Given the description of an element on the screen output the (x, y) to click on. 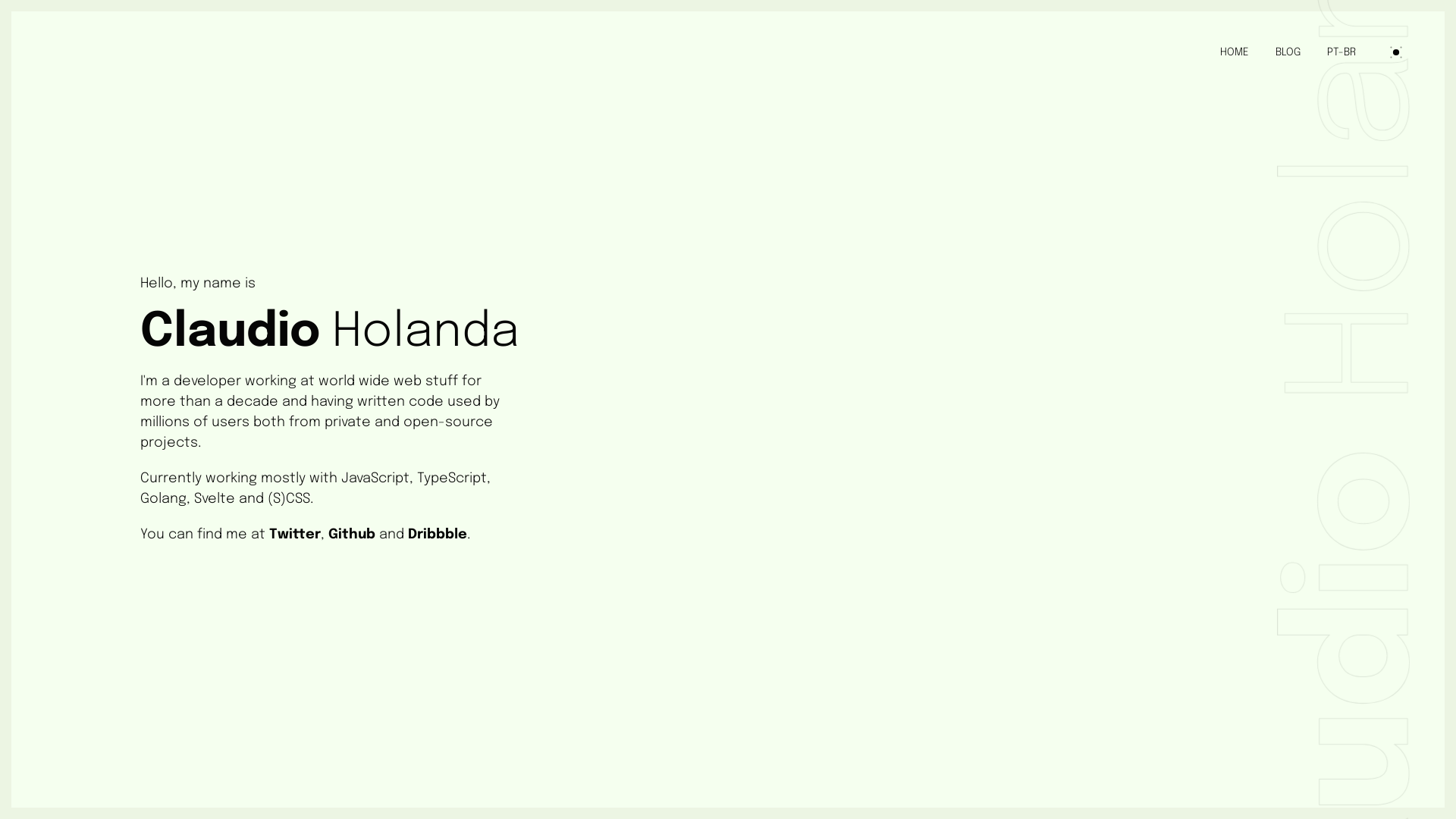
Dribbble Element type: text (437, 534)
Twitter Element type: text (294, 534)
PT-BR Element type: text (1341, 52)
TURN DARKMONE ON OR OFF Element type: text (1396, 51)
Github Element type: text (351, 534)
HOME Element type: text (1234, 52)
BLOG Element type: text (1287, 52)
